Given the description of an element on the screen output the (x, y) to click on. 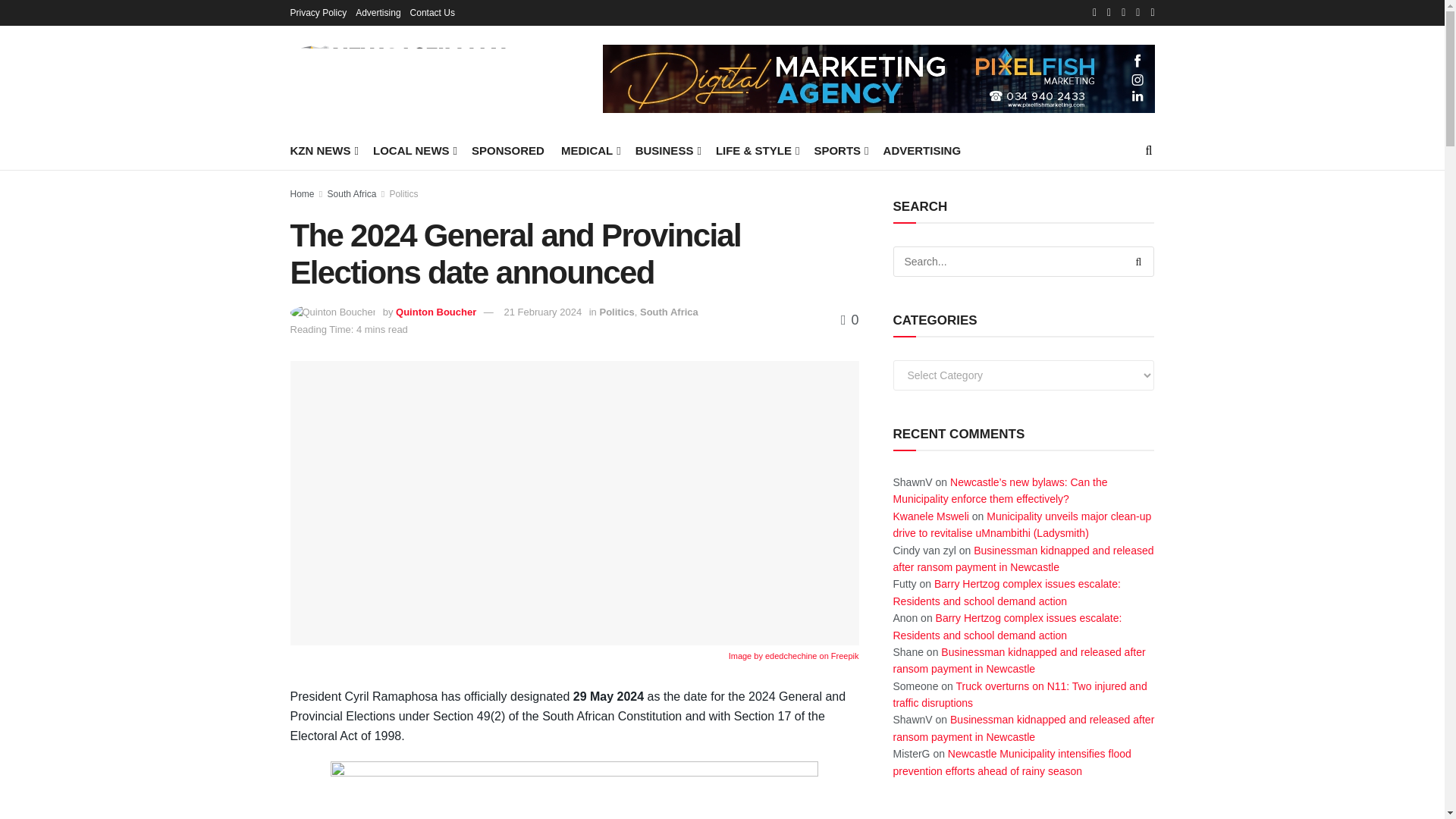
SPORTS (839, 150)
MEDICAL (589, 150)
Privacy Policy (317, 12)
LOCAL NEWS (413, 150)
Advertising (377, 12)
SPONSORED (507, 150)
Contact Us (432, 12)
KZN NEWS (322, 150)
BUSINESS (666, 150)
